Given the description of an element on the screen output the (x, y) to click on. 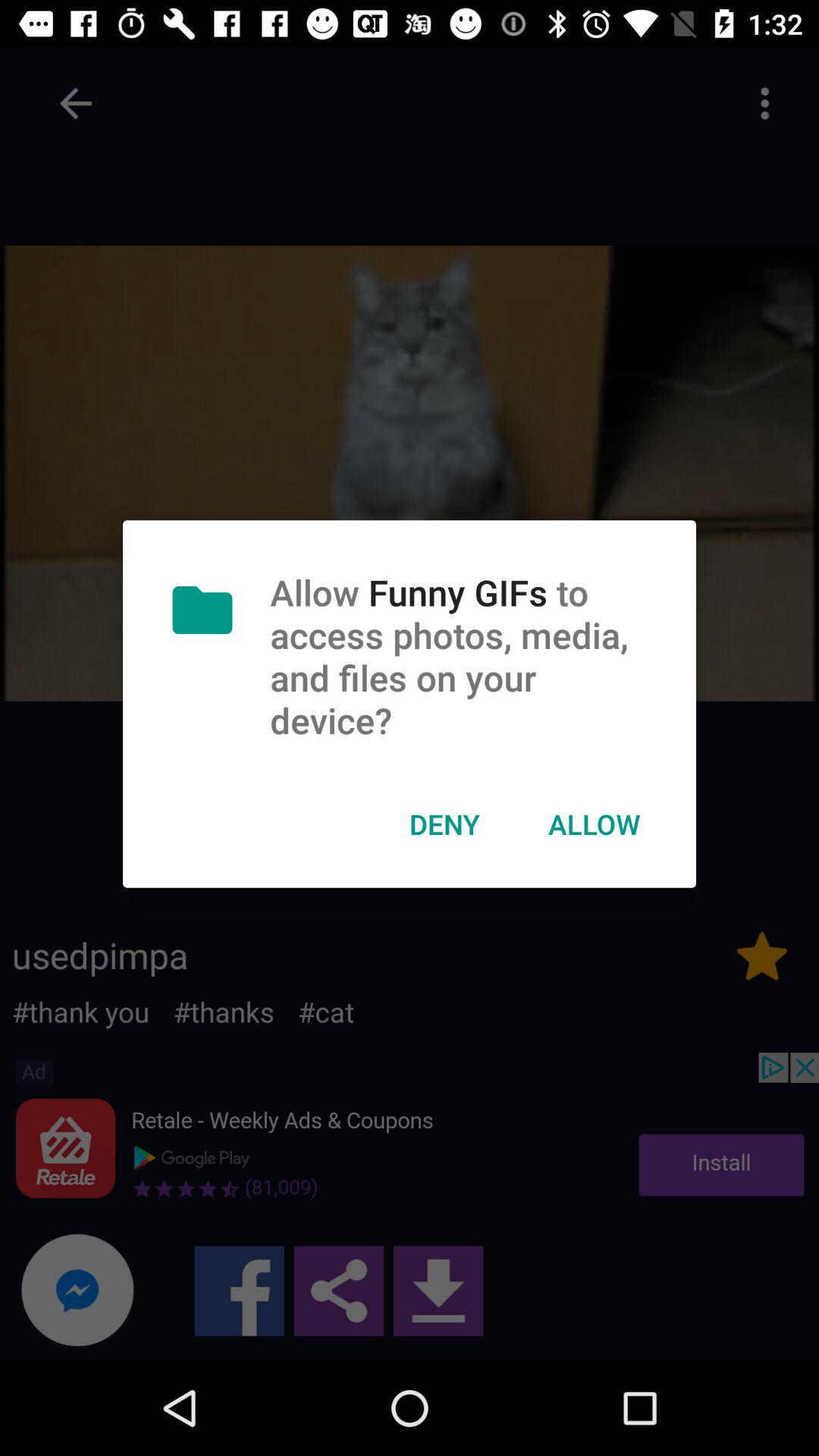
go back (75, 103)
